Given the description of an element on the screen output the (x, y) to click on. 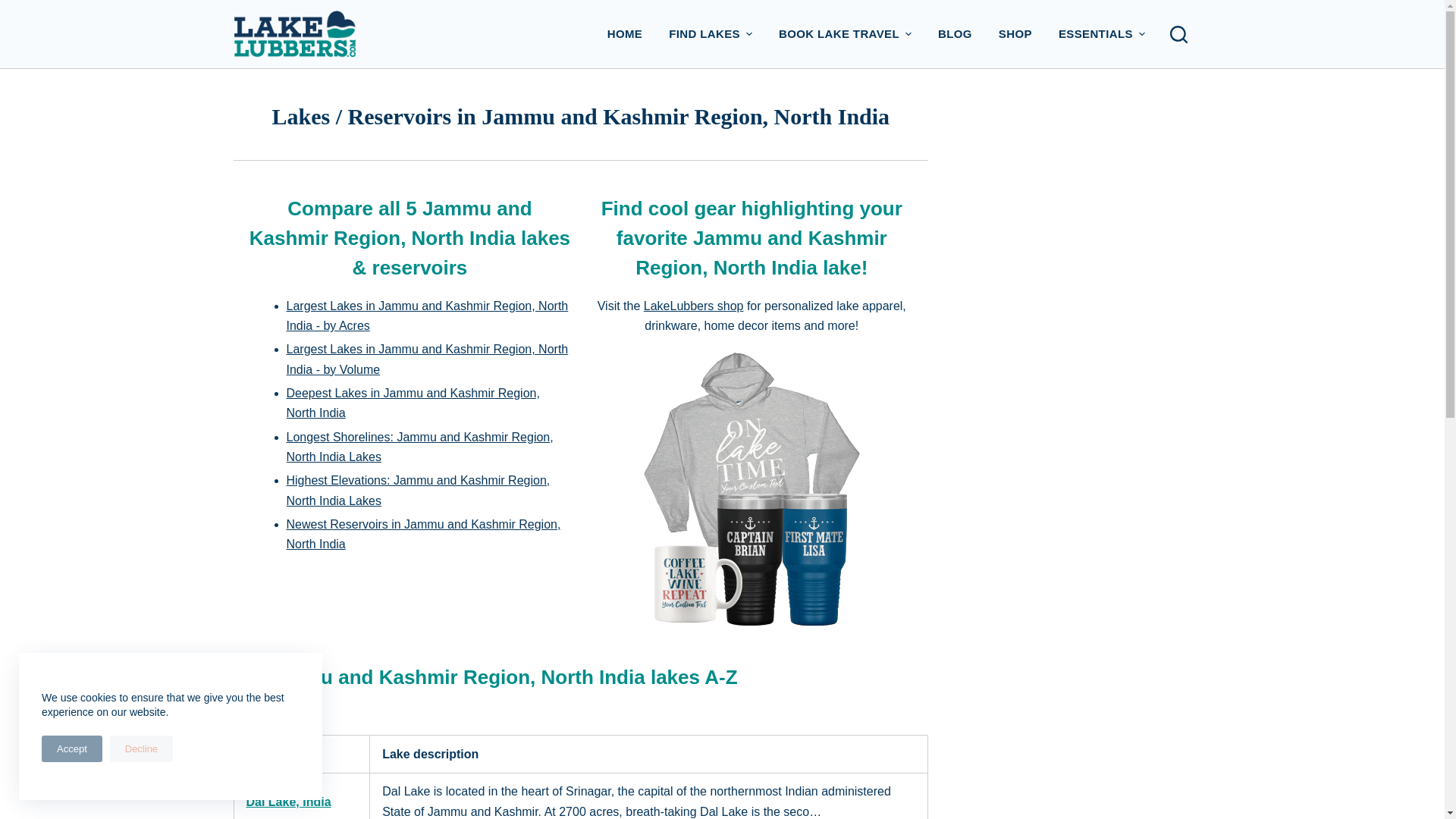
Accept (71, 748)
FIND LAKES (710, 33)
BOOK LAKE TRAVEL (844, 33)
HOME (625, 33)
Skip to content (15, 7)
Decline (141, 748)
